Given the description of an element on the screen output the (x, y) to click on. 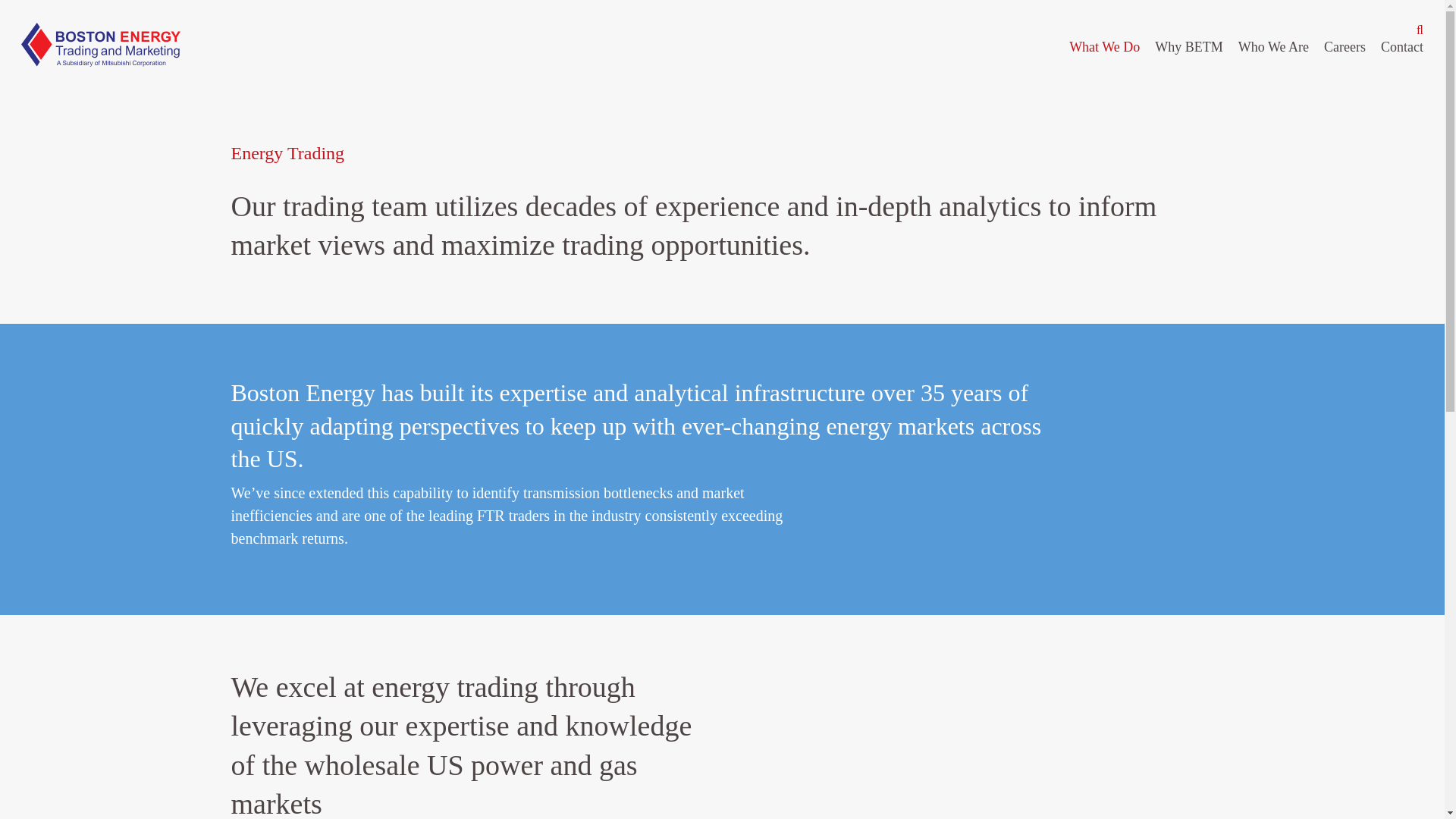
Who We Are (1273, 46)
Careers (1344, 46)
What We Do (1104, 46)
Contact (1401, 46)
Why BETM (1188, 46)
